Given the description of an element on the screen output the (x, y) to click on. 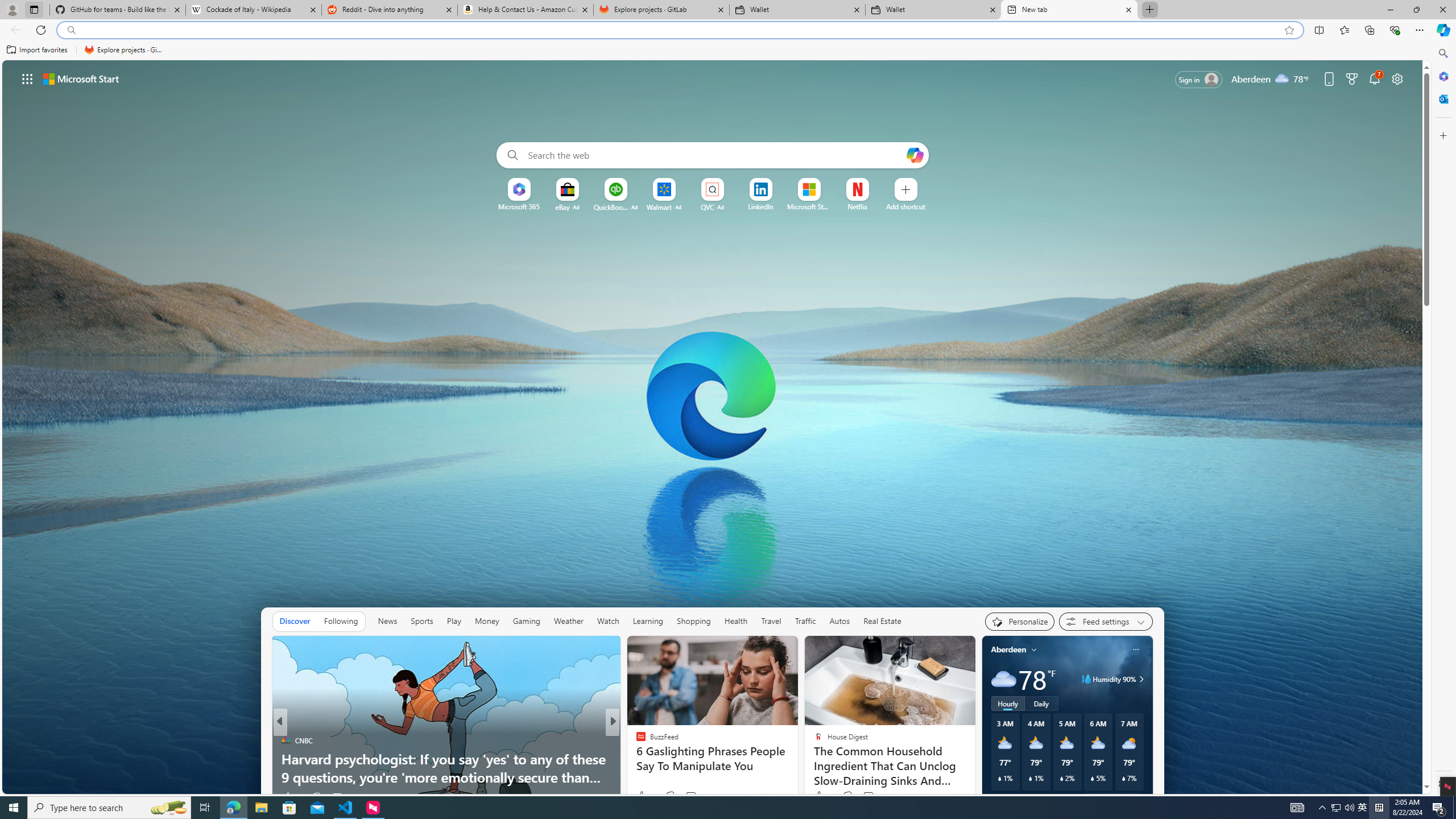
2k Like (822, 795)
Business Insider (635, 740)
Cockade of Italy - Wikipedia (253, 9)
View comments 786 Comment (336, 797)
Help & Contact Us - Amazon Customer Service (525, 9)
To get missing image descriptions, open the context menu. (518, 189)
View comments 786 Comment (343, 796)
Play (454, 621)
View comments 1k Comment (687, 797)
